Given the description of an element on the screen output the (x, y) to click on. 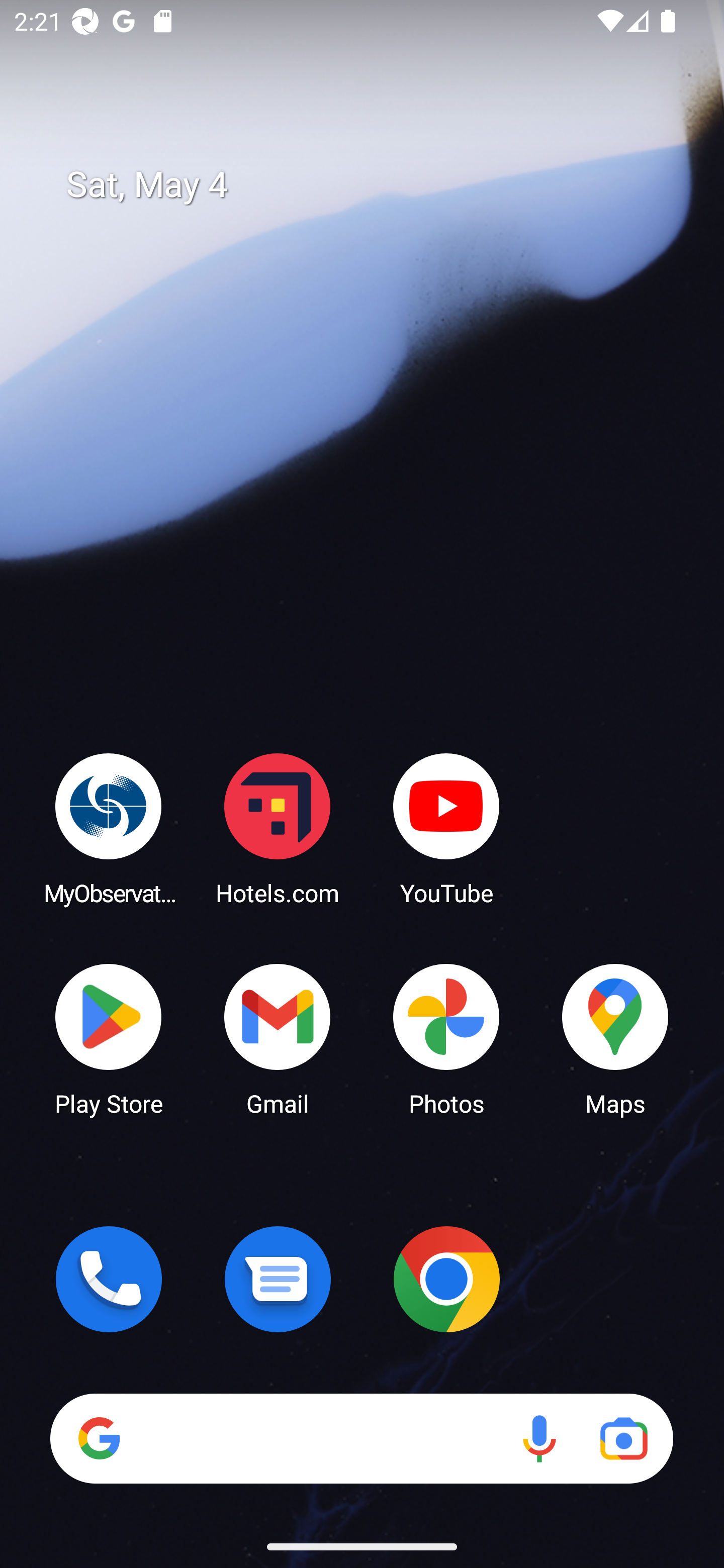
Sat, May 4 (375, 184)
MyObservatory (108, 828)
Hotels.com (277, 828)
YouTube (445, 828)
Play Store (108, 1038)
Gmail (277, 1038)
Photos (445, 1038)
Maps (615, 1038)
Phone (108, 1279)
Messages (277, 1279)
Chrome (446, 1279)
Search Voice search Google Lens (361, 1438)
Voice search (539, 1438)
Google Lens (623, 1438)
